Given the description of an element on the screen output the (x, y) to click on. 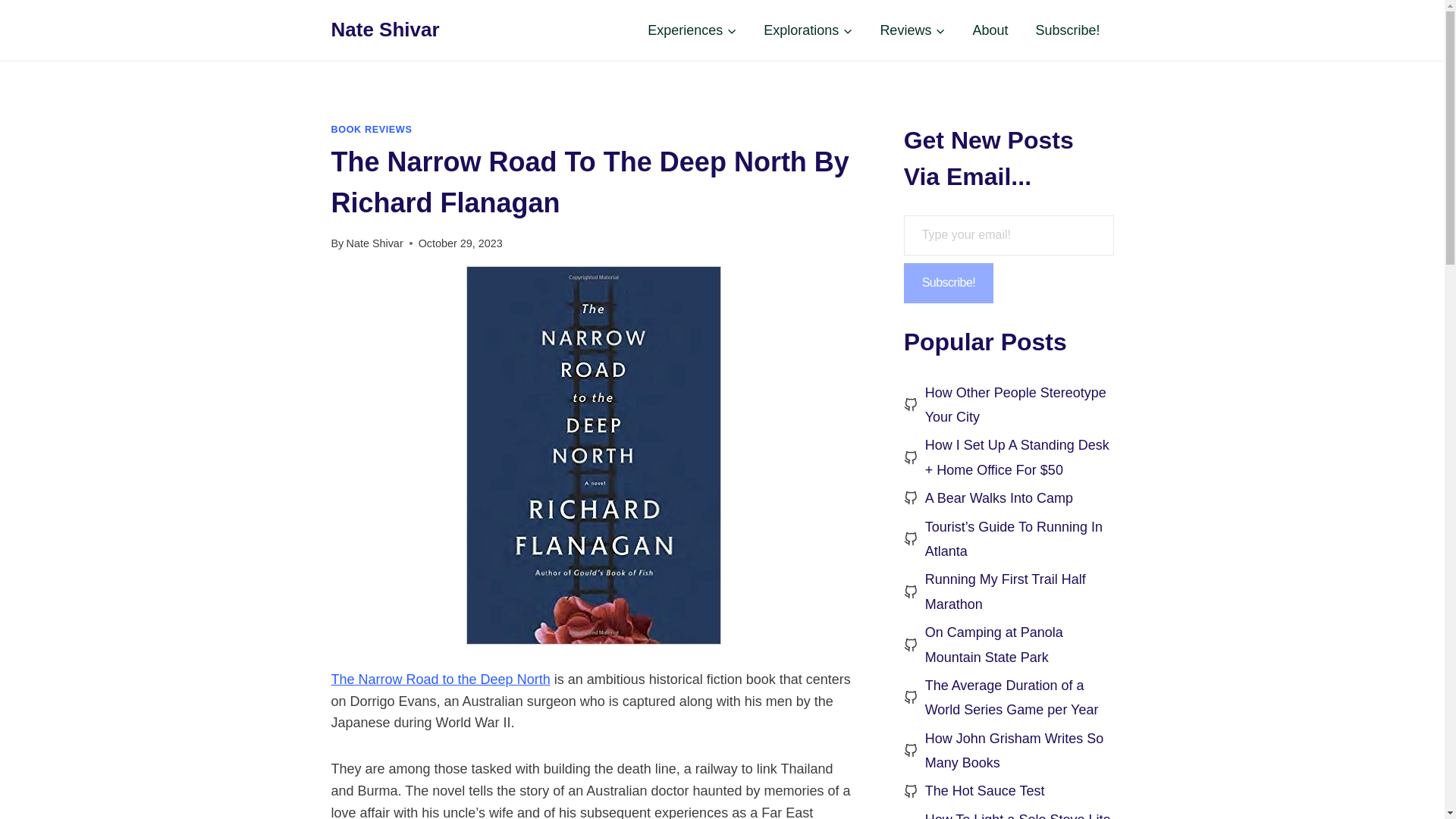
Explorations (807, 30)
The Narrow Road to the Deep North (440, 679)
Subscribe! (1067, 30)
Experiences (691, 30)
Reviews (912, 30)
About (990, 30)
Please fill in this field. (1008, 235)
Nate Shivar (384, 29)
BOOK REVIEWS (371, 129)
Nate Shivar (374, 243)
